Given the description of an element on the screen output the (x, y) to click on. 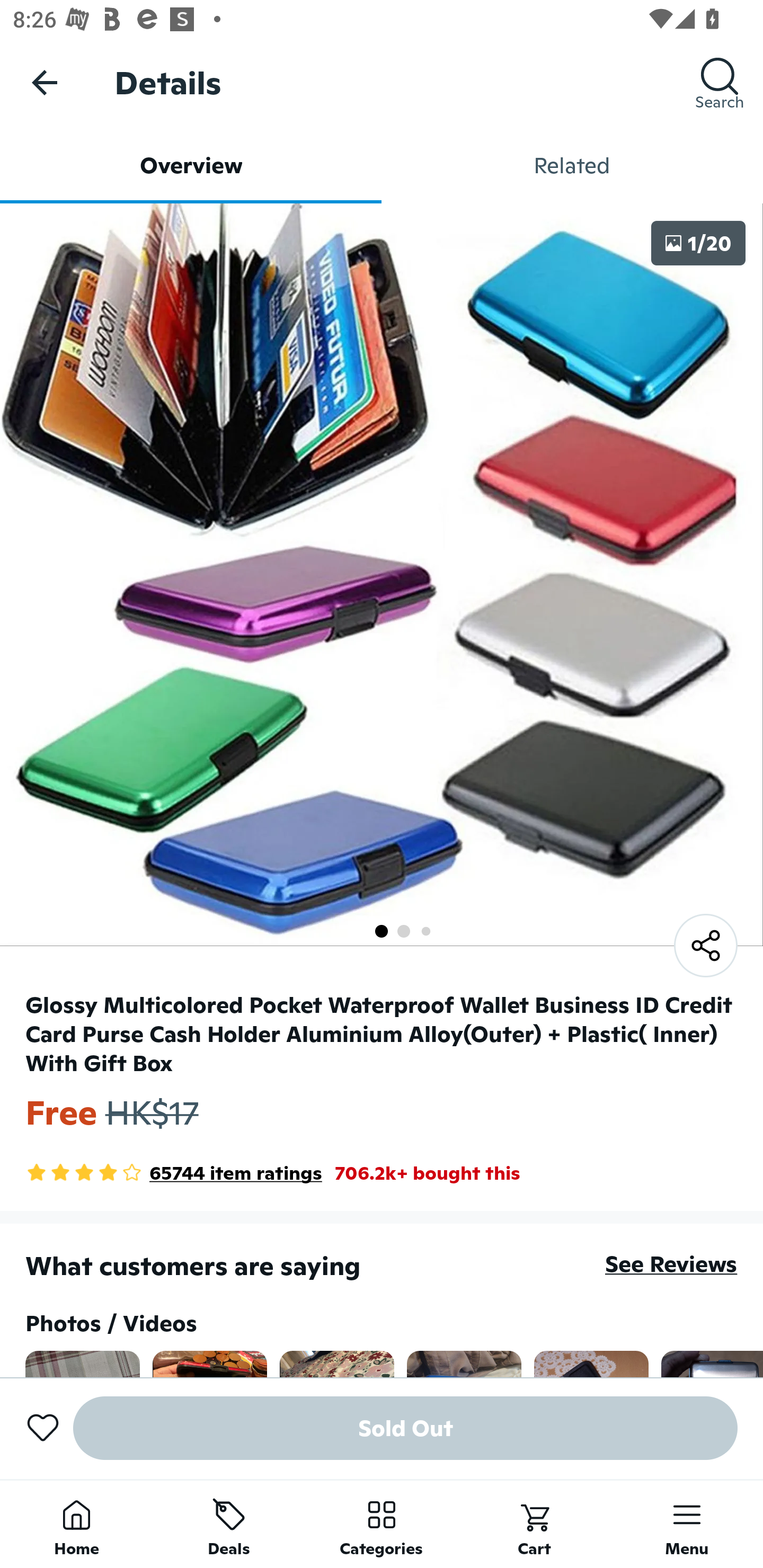
Navigate up (44, 82)
Search (719, 82)
Related (572, 165)
1/20 (698, 242)
3.9 Star Rating 65744 item ratings (173, 1172)
See Reviews (671, 1264)
Sold Out (405, 1428)
Home (76, 1523)
Deals (228, 1523)
Categories (381, 1523)
Cart (533, 1523)
Menu (686, 1523)
